Given the description of an element on the screen output the (x, y) to click on. 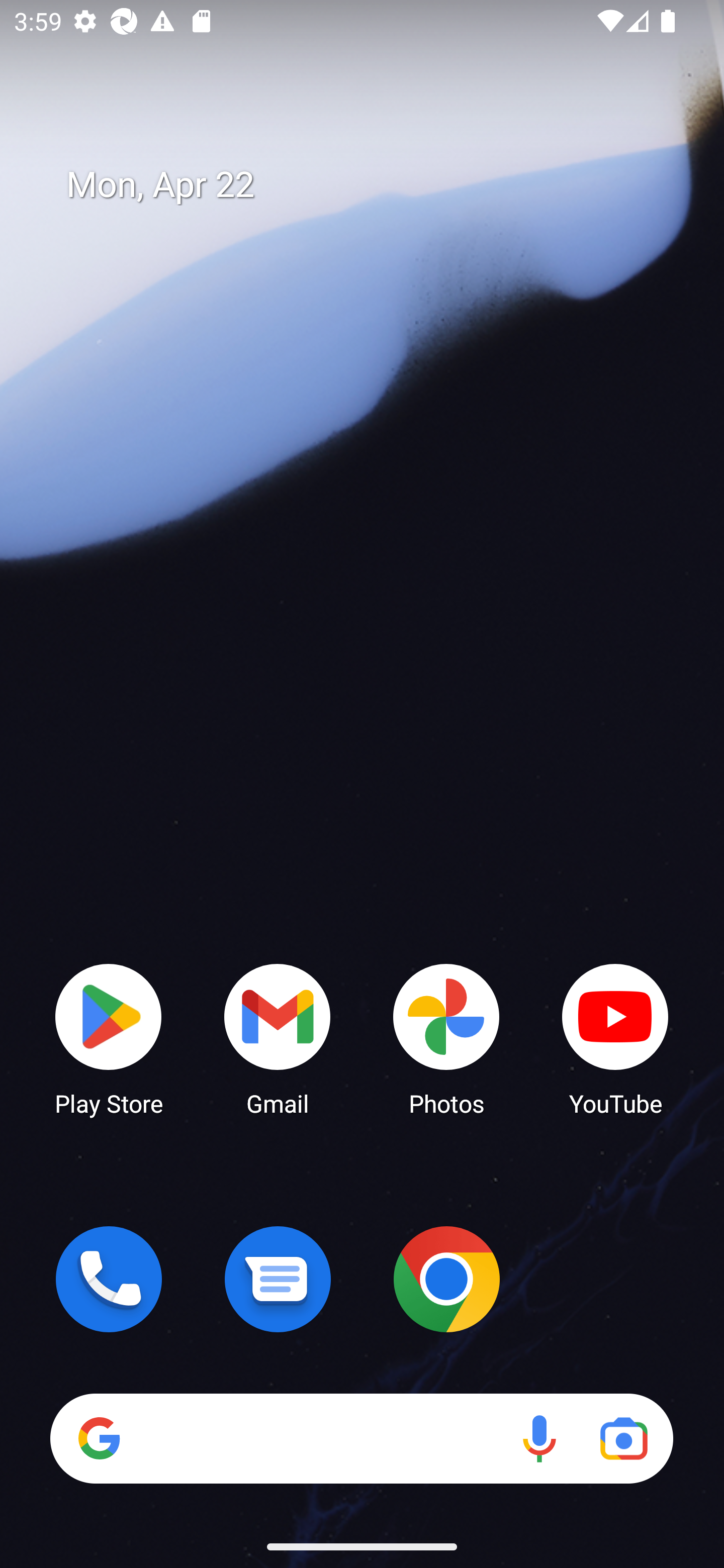
Mon, Apr 22 (375, 184)
Play Store (108, 1038)
Gmail (277, 1038)
Photos (445, 1038)
YouTube (615, 1038)
Phone (108, 1279)
Messages (277, 1279)
Chrome (446, 1279)
Search Voice search Google Lens (361, 1438)
Voice search (539, 1438)
Google Lens (623, 1438)
